Given the description of an element on the screen output the (x, y) to click on. 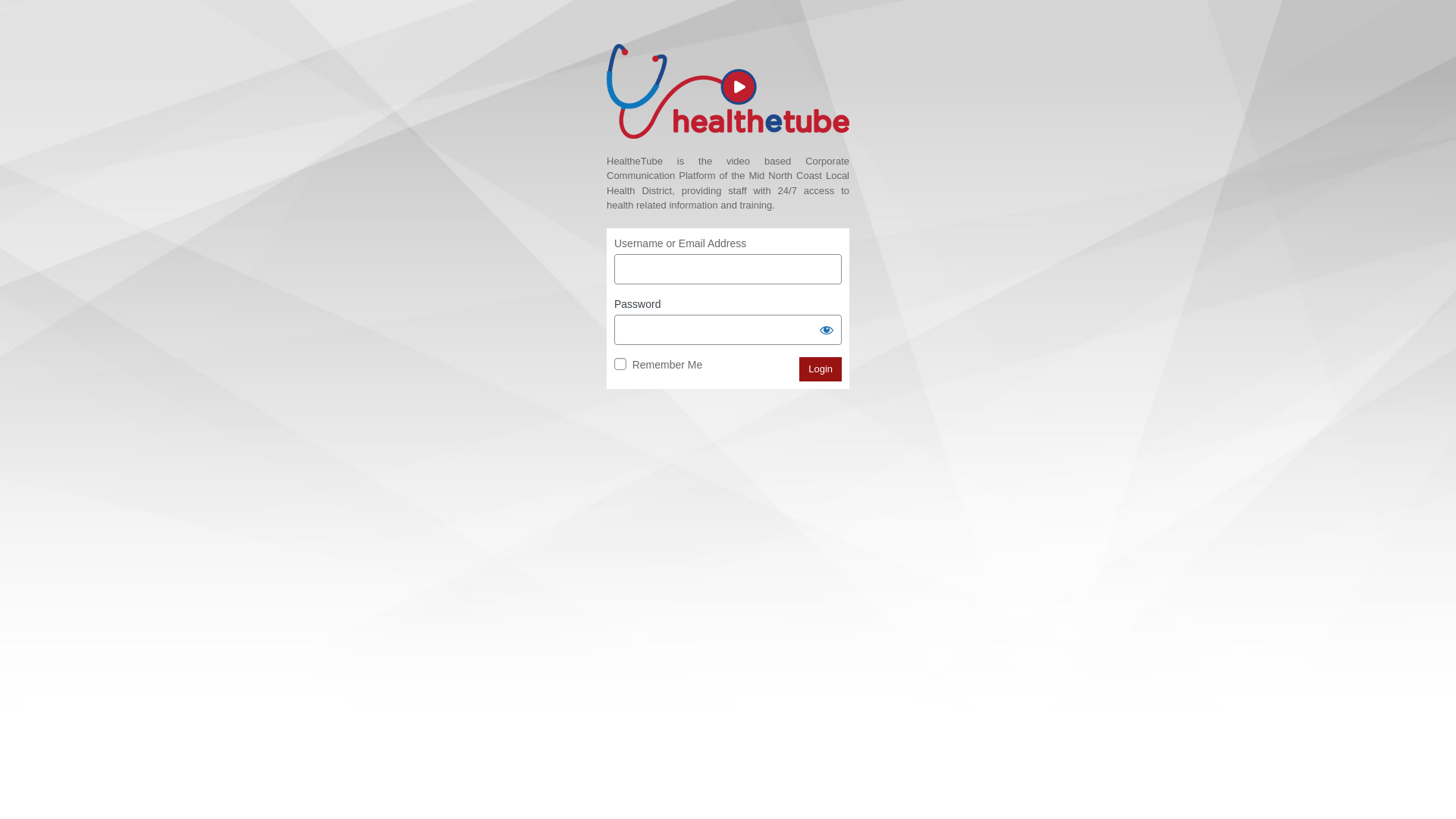
Login Element type: text (820, 369)
Powered by WordPress Element type: text (727, 90)
